Given the description of an element on the screen output the (x, y) to click on. 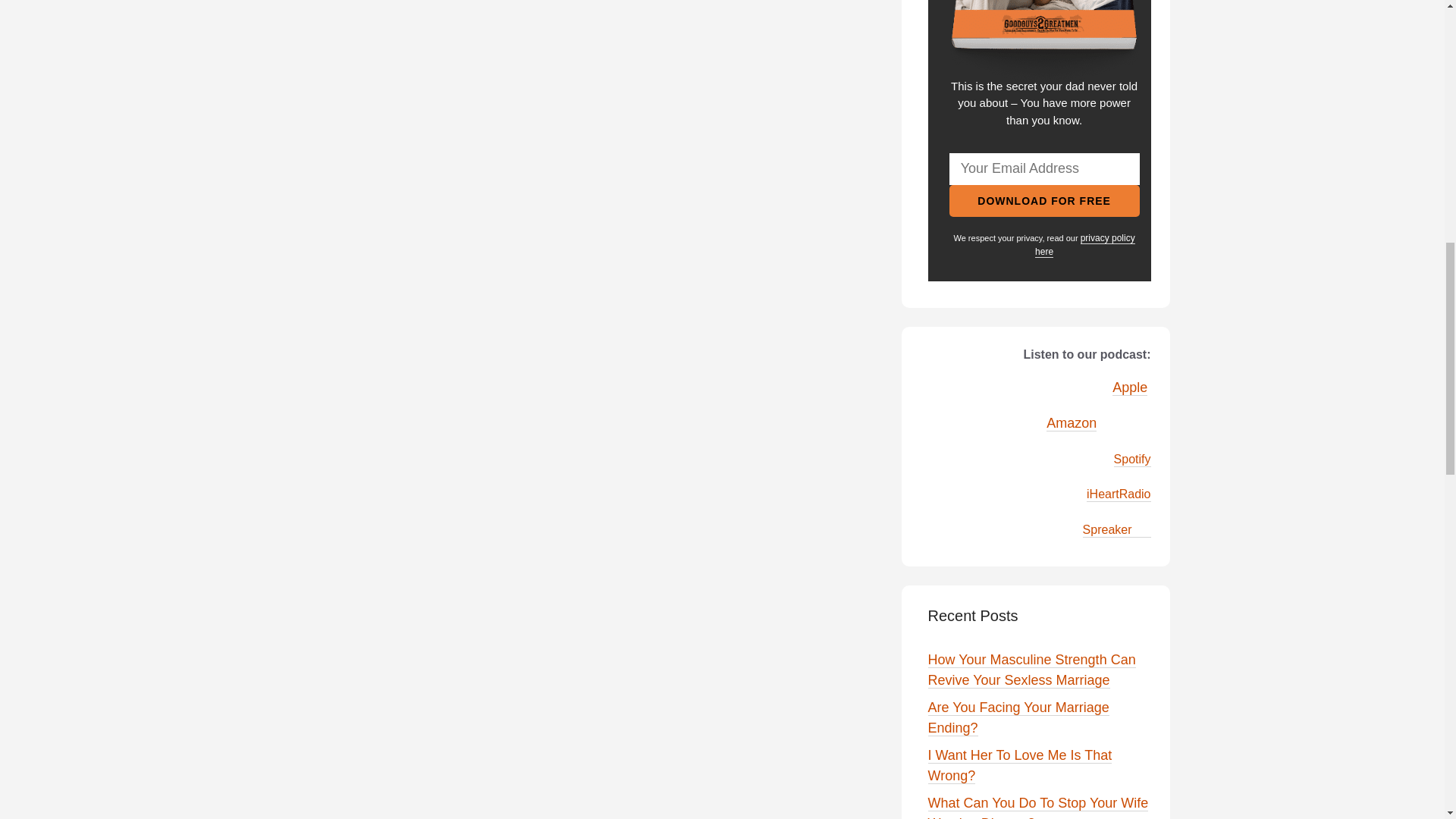
Privacy Policy (1085, 244)
Download for Free (1044, 201)
Scroll back to top (1406, 720)
